Given the description of an element on the screen output the (x, y) to click on. 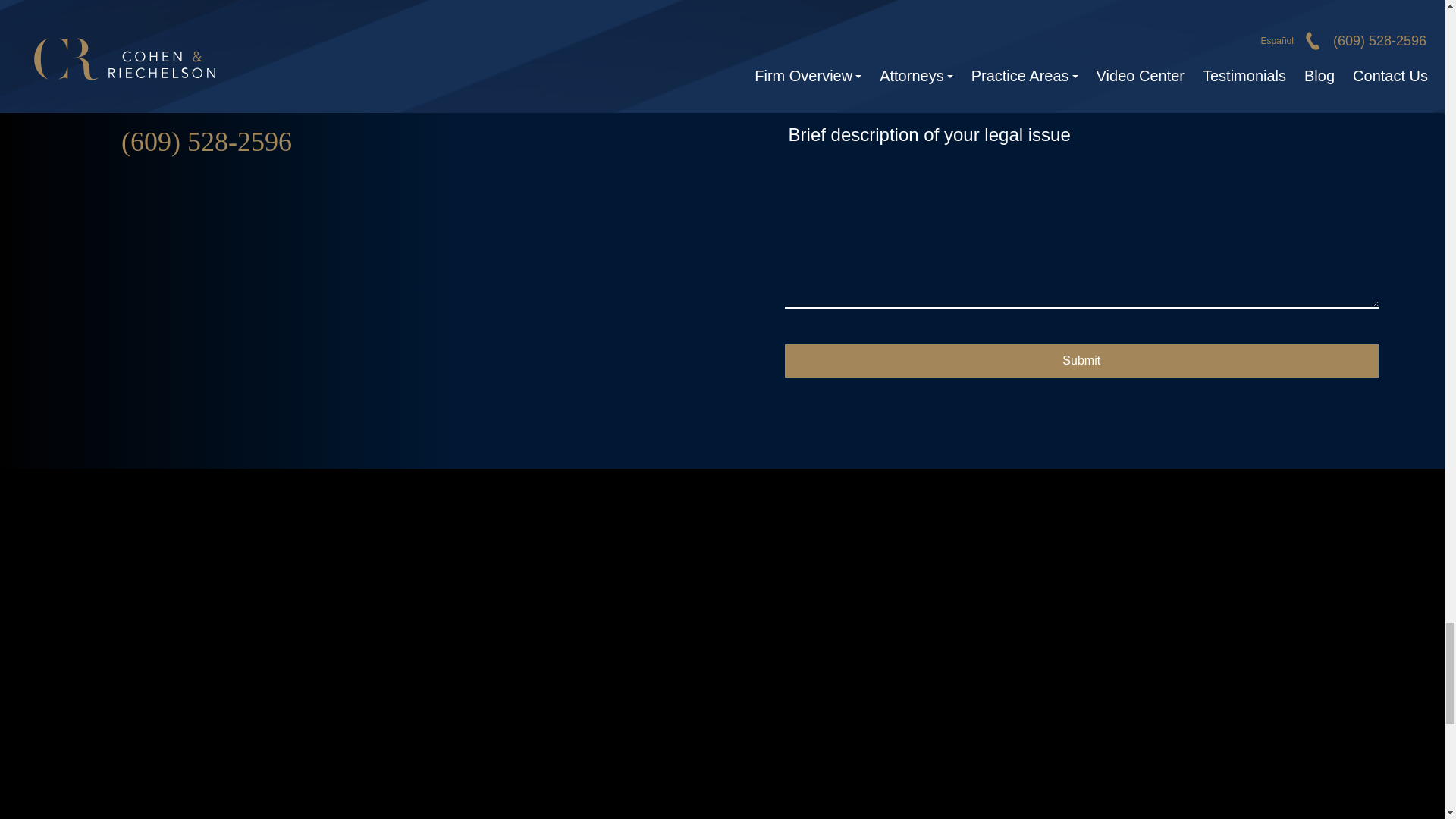
Submit (1081, 360)
